Given the description of an element on the screen output the (x, y) to click on. 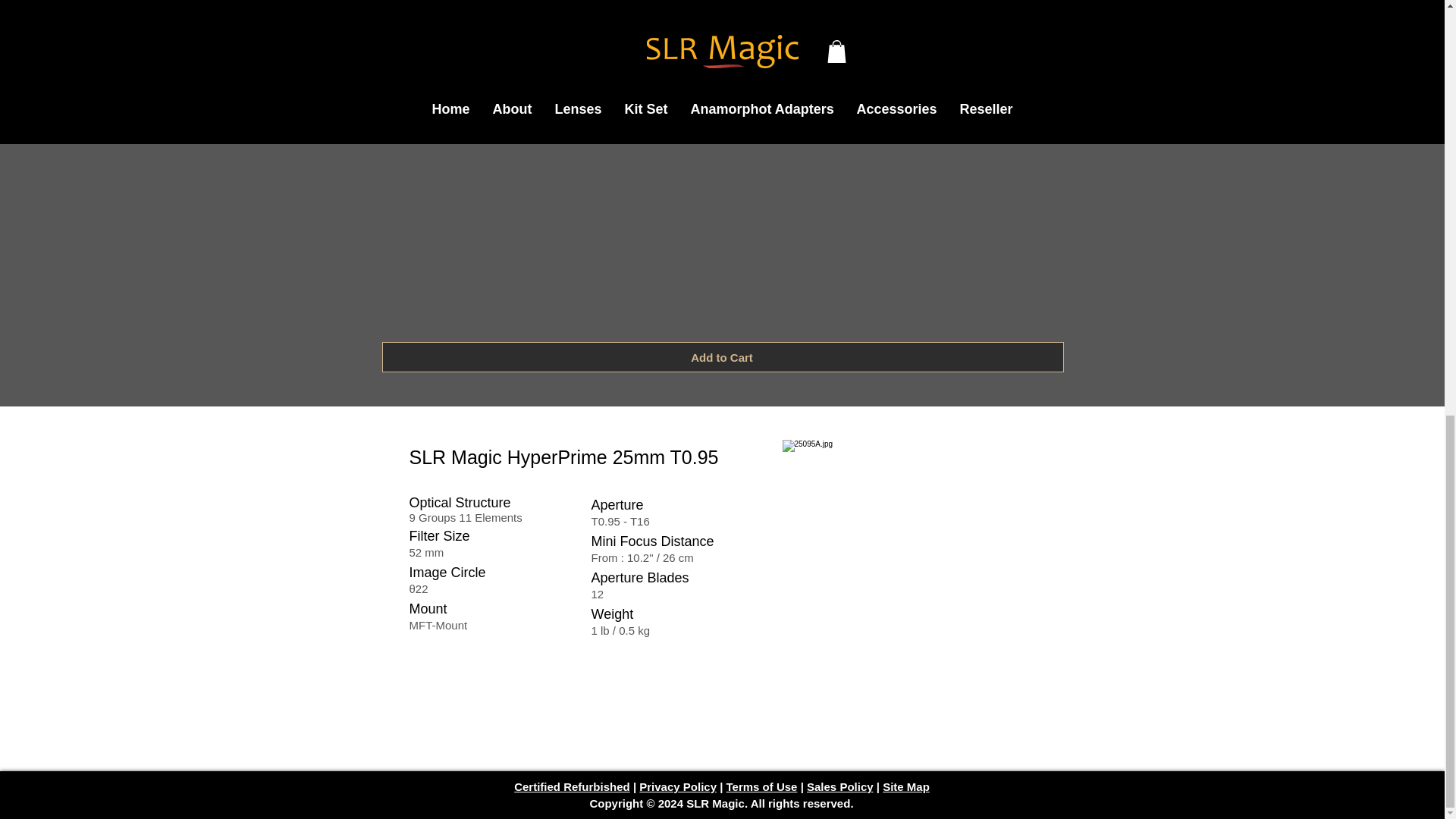
Add to Cart (722, 357)
Sales Policy (839, 786)
Privacy Policy (677, 786)
Site Map (906, 786)
Certified Refurbished (571, 786)
Terms of Use (761, 786)
